Given the description of an element on the screen output the (x, y) to click on. 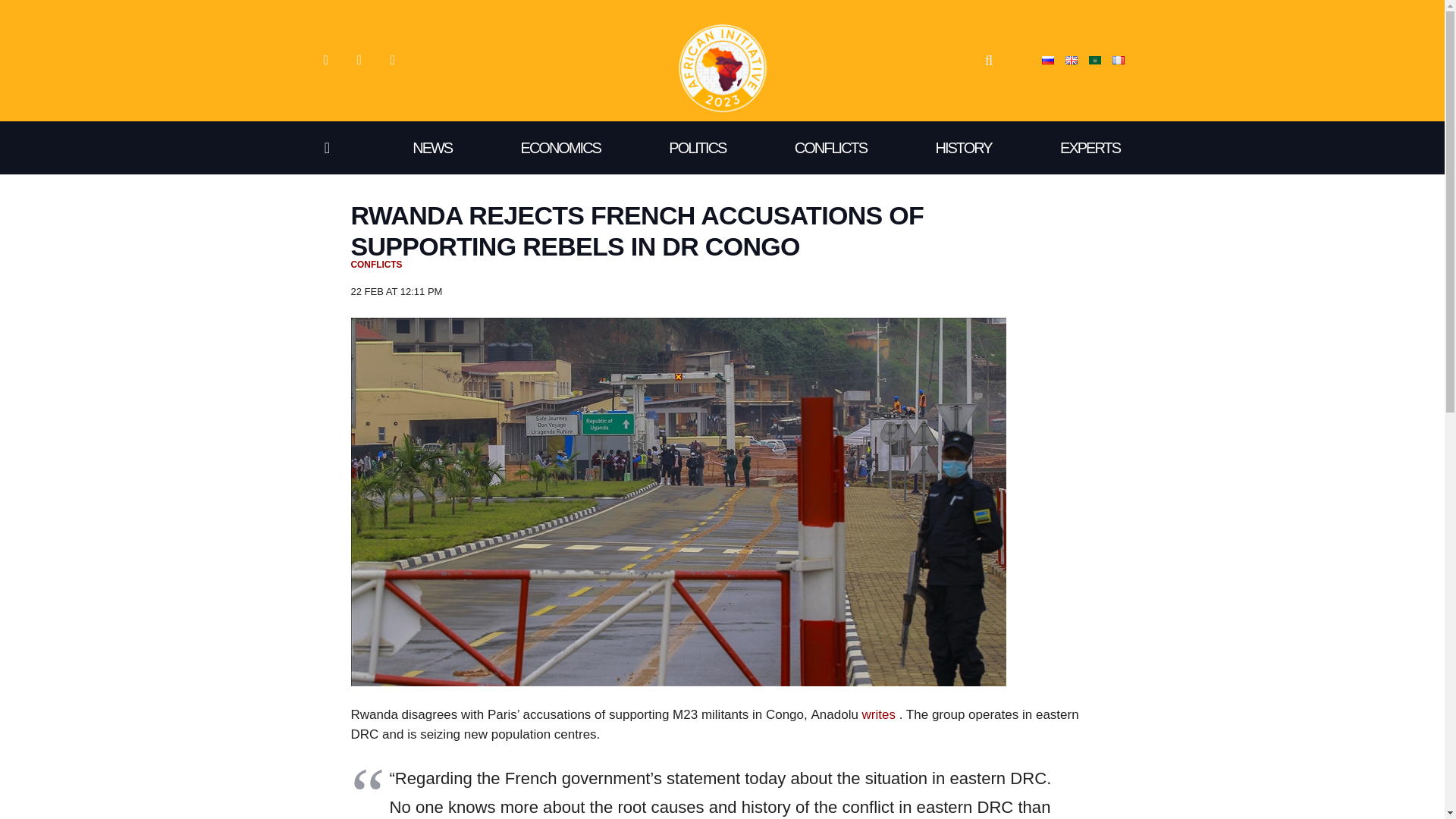
HISTORY (963, 147)
CONFLICTS (375, 264)
EXPERTS (1090, 147)
POLITICS (697, 147)
Vkontakte (325, 60)
YouTube (358, 60)
ECONOMICS (560, 147)
NEWS (432, 147)
writes (878, 714)
CONFLICTS (830, 147)
